Given the description of an element on the screen output the (x, y) to click on. 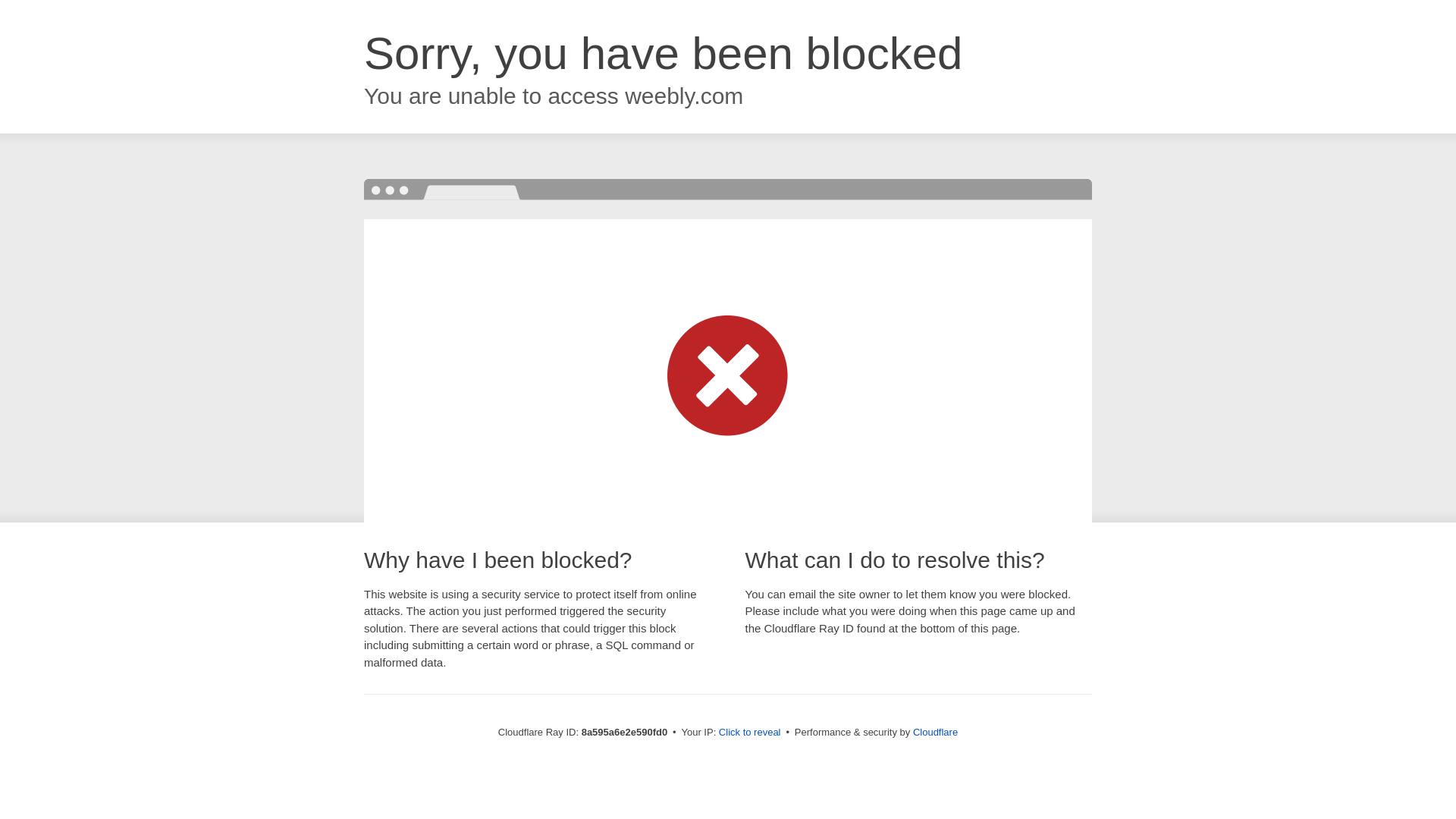
Cloudflare (935, 731)
Click to reveal (749, 732)
